Given the description of an element on the screen output the (x, y) to click on. 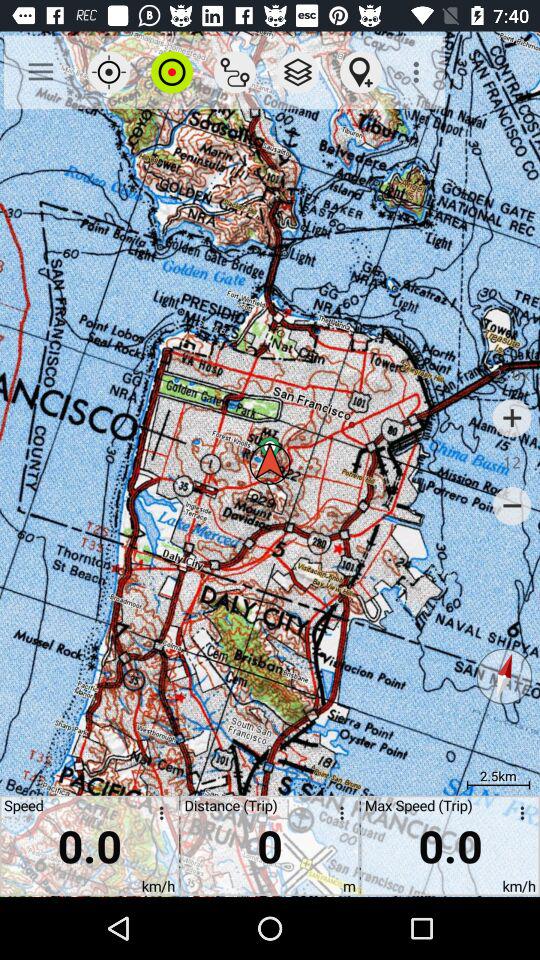
tap the icon above the speed item (40, 72)
